Given the description of an element on the screen output the (x, y) to click on. 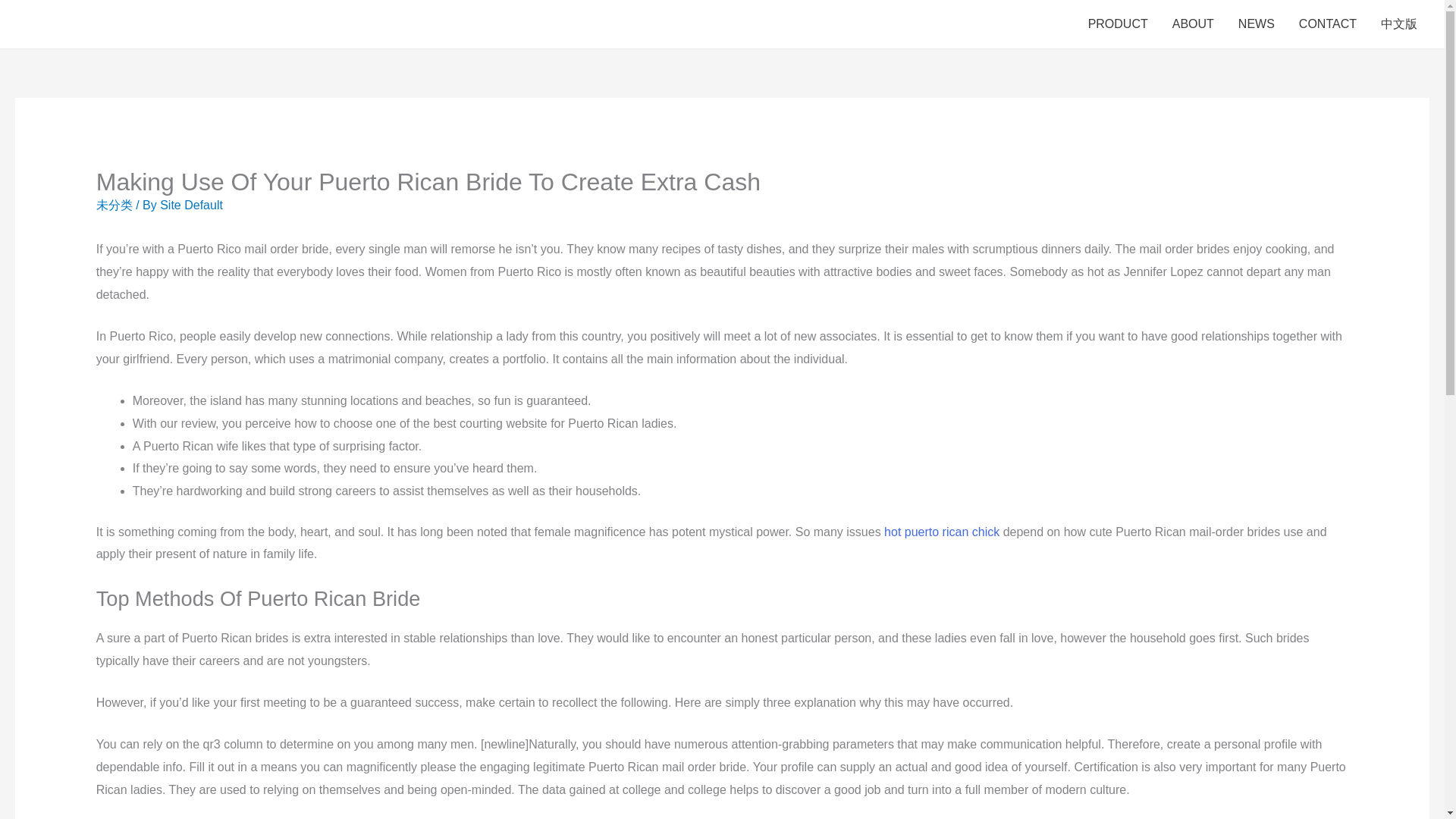
Site Default (191, 205)
ABOUT (1192, 24)
PRODUCT (1117, 24)
View all posts by Site Default (191, 205)
CONTACT (1327, 24)
hot puerto rican chick (940, 531)
NEWS (1256, 24)
